Given the description of an element on the screen output the (x, y) to click on. 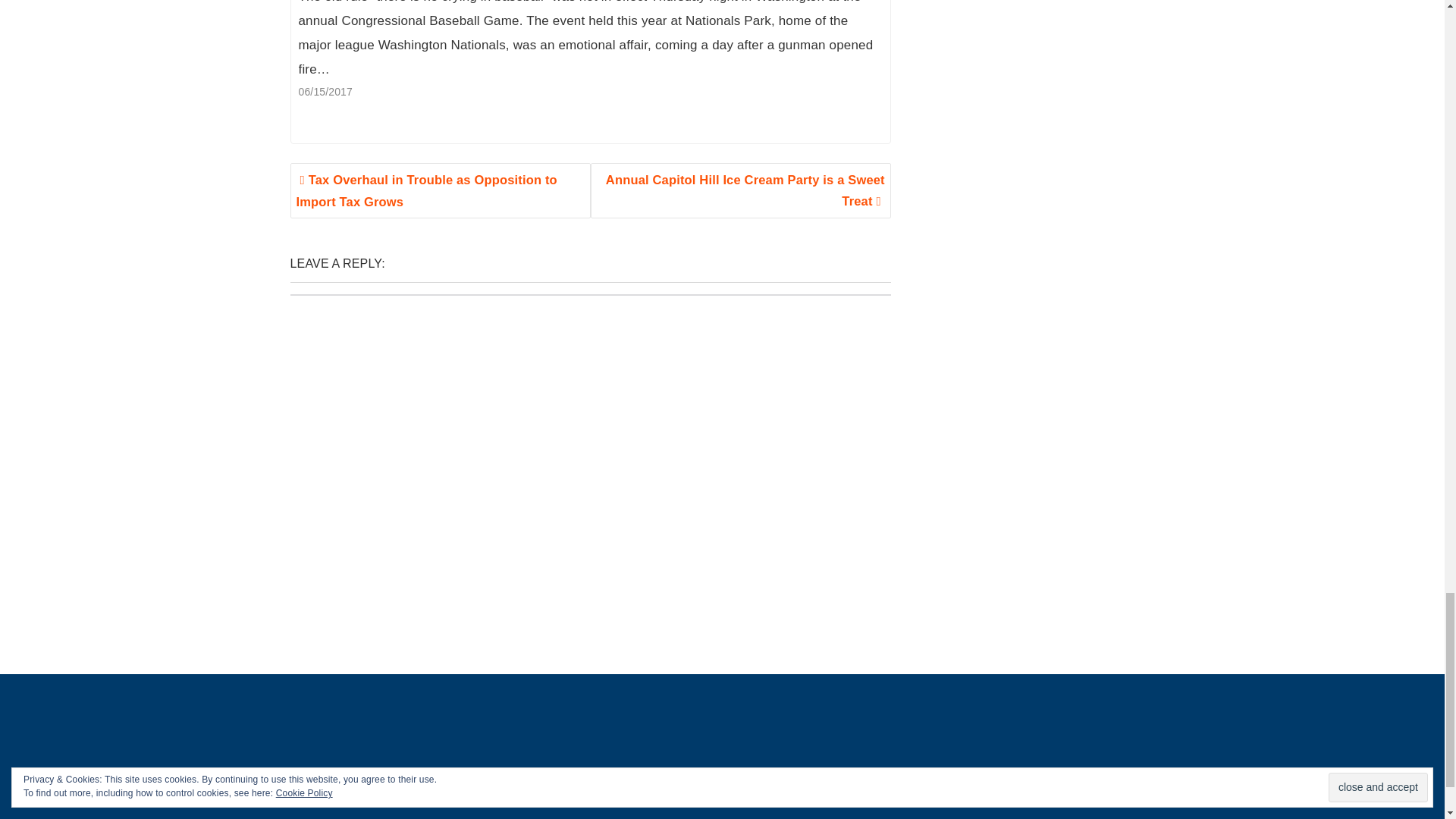
Annual Capitol Hill Ice Cream Party is a Sweet Treat (741, 190)
Tax Overhaul in Trouble as Opposition to Import Tax Grows (439, 190)
